Given the description of an element on the screen output the (x, y) to click on. 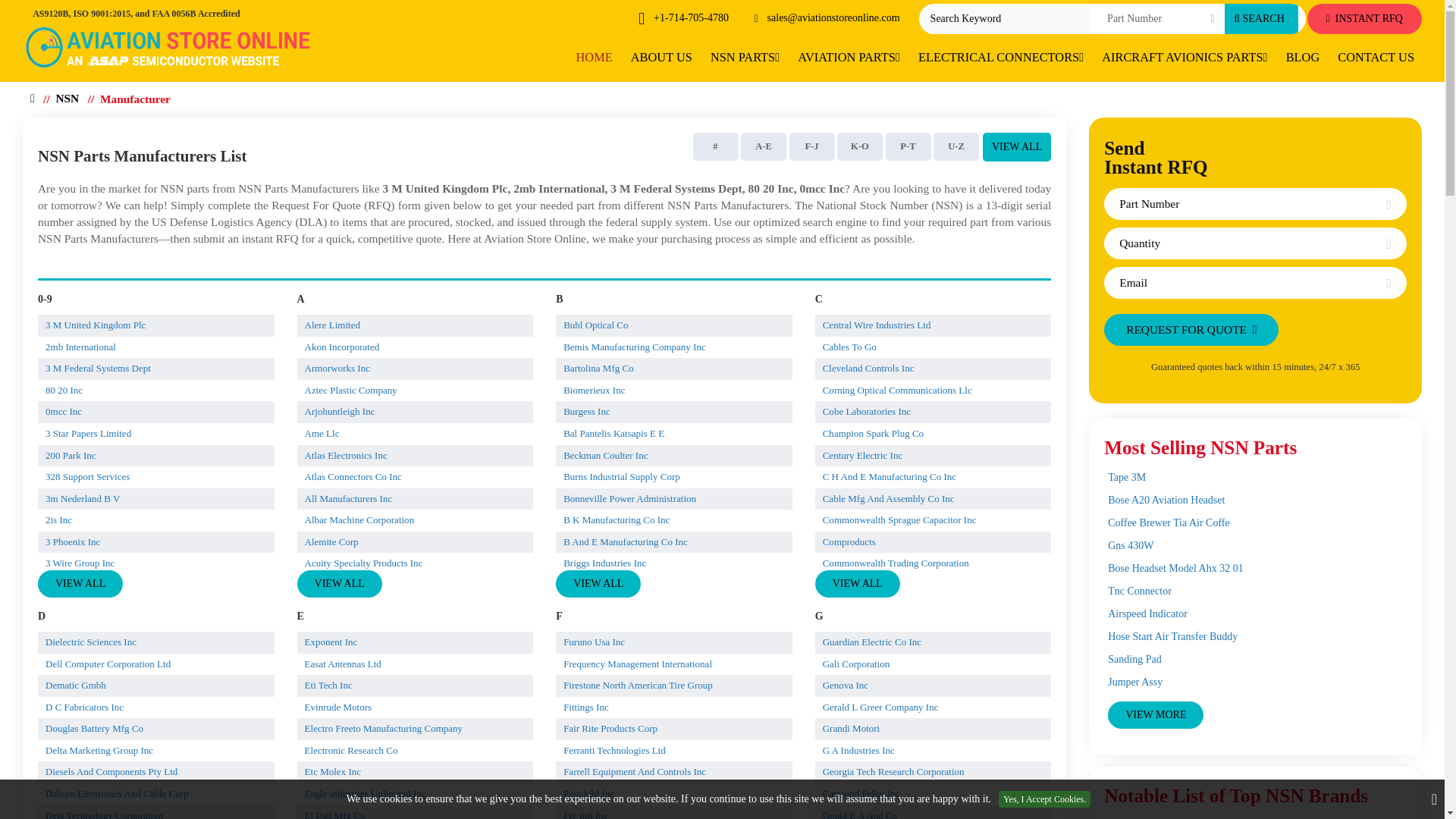
AIRCRAFT AVIONICS PARTS (1184, 56)
HOME (594, 56)
  INSTANT RFQ (1364, 19)
BLOG (1302, 56)
ABOUT US (661, 56)
AVIATION PARTS (848, 56)
NSN PARTS (745, 56)
ELECTRICAL CONNECTORS (1000, 56)
